Given the description of an element on the screen output the (x, y) to click on. 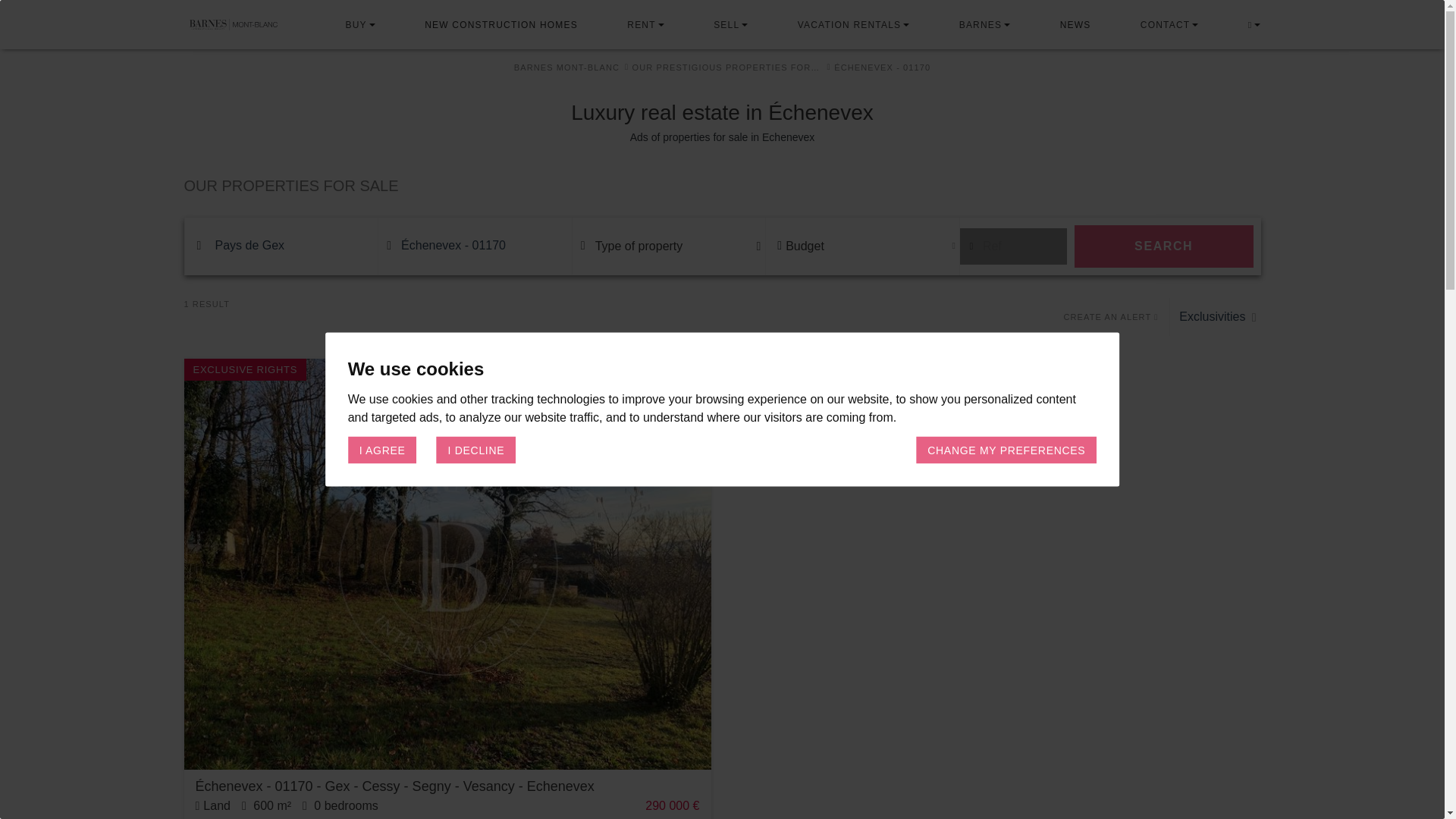
BARNES (981, 24)
Our agencies (1165, 24)
I DECLINE (476, 449)
BUY (356, 24)
OUR PROPERTIES FOR SALE (721, 185)
CHANGE MY PREFERENCES (1005, 449)
Mon compte (1249, 24)
Back to Home (253, 24)
NEW CONSTRUCTION HOMES (501, 24)
I AGREE (381, 449)
SELL (726, 24)
News (1074, 24)
NEWS (1074, 24)
New construction homes (501, 24)
